Given the description of an element on the screen output the (x, y) to click on. 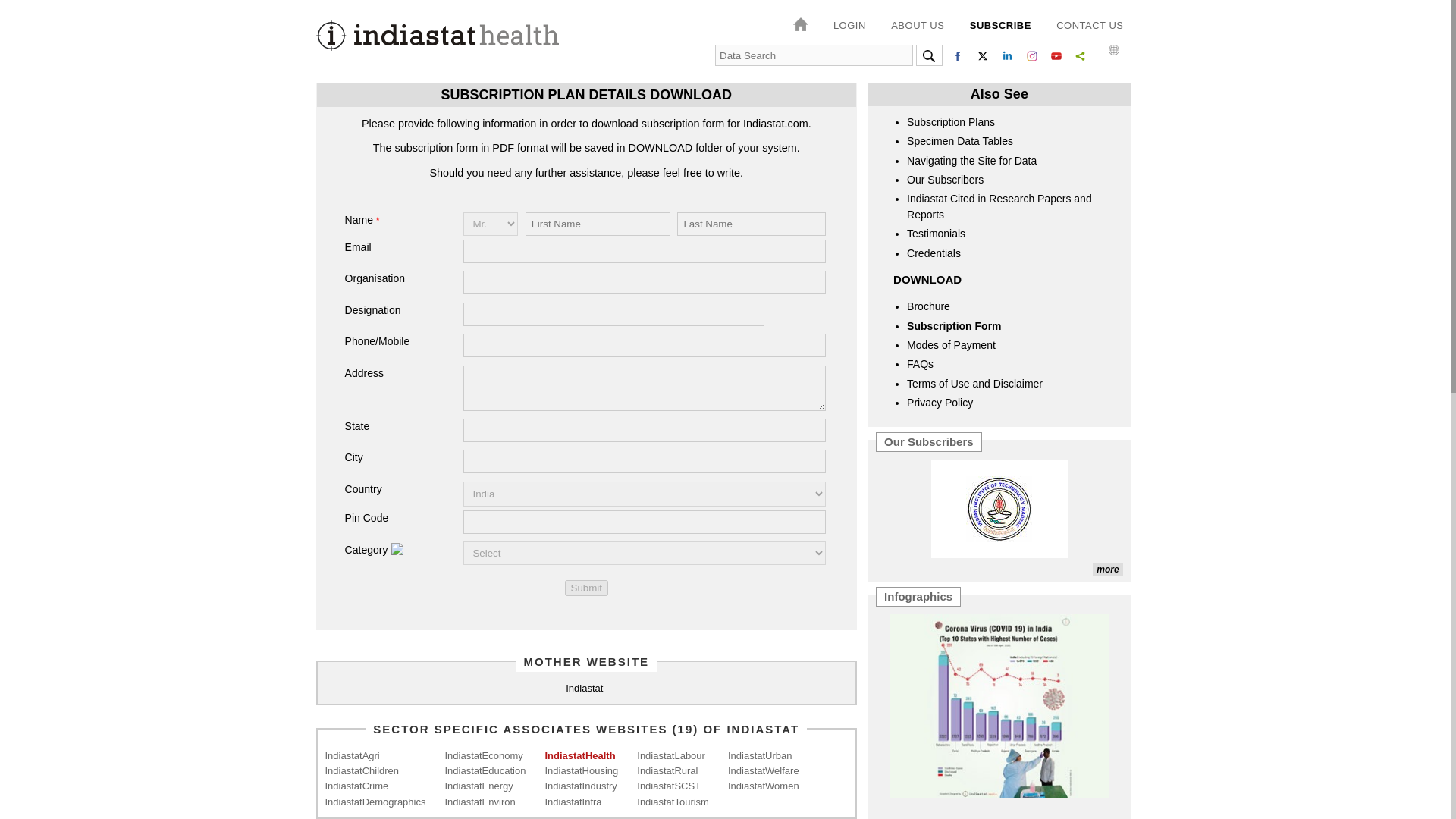
IndiastatSCST (673, 785)
Submit (586, 587)
Linkedin (1006, 55)
IndiastatTourism (673, 801)
IndiastatInfra (580, 801)
Twitter (982, 55)
IndiastatCrime (374, 785)
SUBSCRIBE (1000, 25)
IndiastatWelfare (763, 770)
Indiastat (584, 688)
Instagram (1031, 55)
Youtube (1056, 55)
IndiastatRural (673, 770)
IndiastatDemographics (374, 801)
IndiastatEnviron (484, 801)
